Given the description of an element on the screen output the (x, y) to click on. 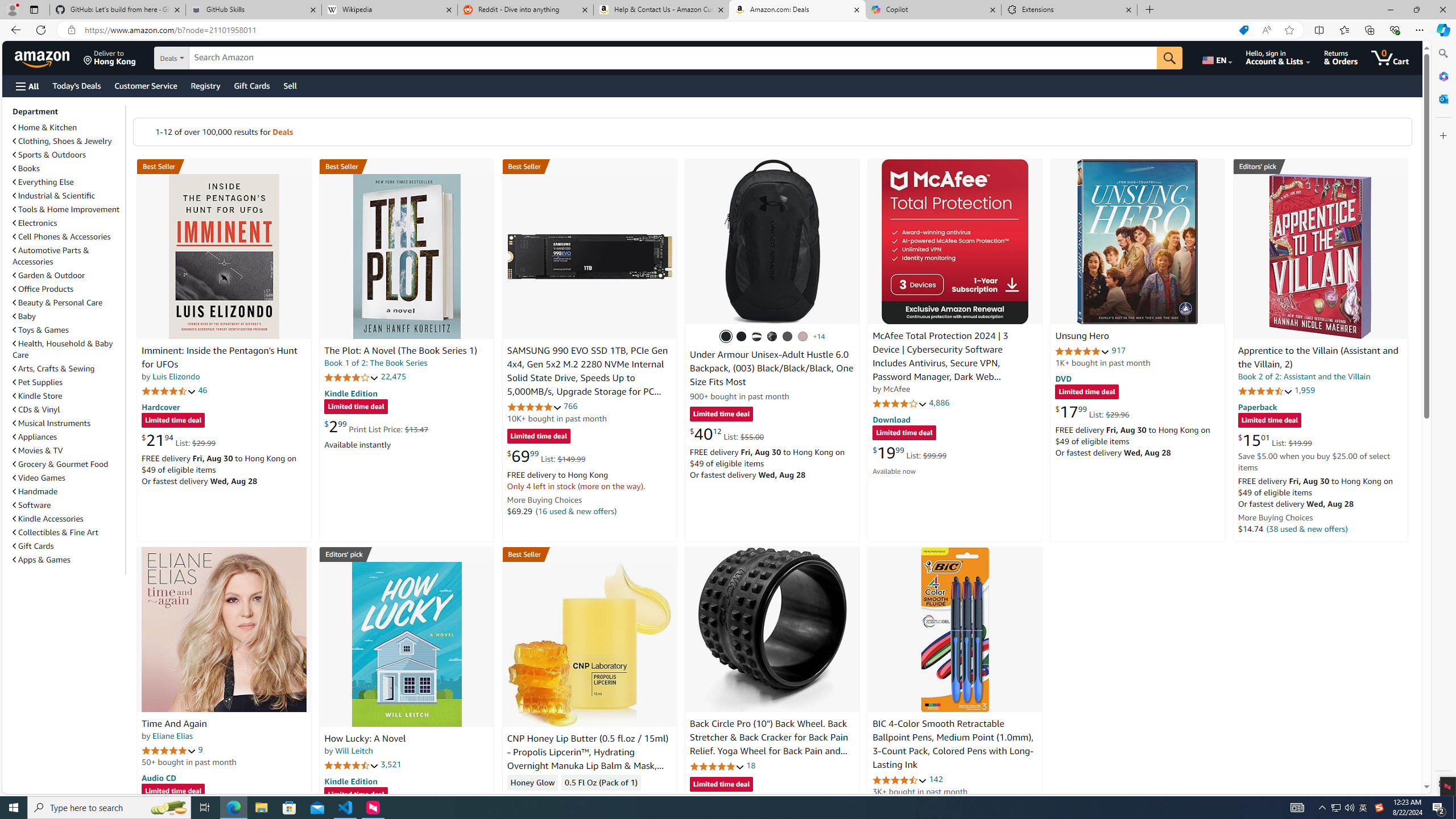
Today's Deals (76, 85)
Collectibles & Fine Art (67, 532)
GitHub Skills (253, 9)
Search Amazon (673, 57)
(38 used & new offers) (1307, 528)
Health, Household & Baby Care (67, 348)
Best Seller in Internal Solid State Drives (589, 165)
Address and search bar (658, 29)
Shopping in Microsoft Edge (1243, 29)
Baby (67, 315)
